Given the description of an element on the screen output the (x, y) to click on. 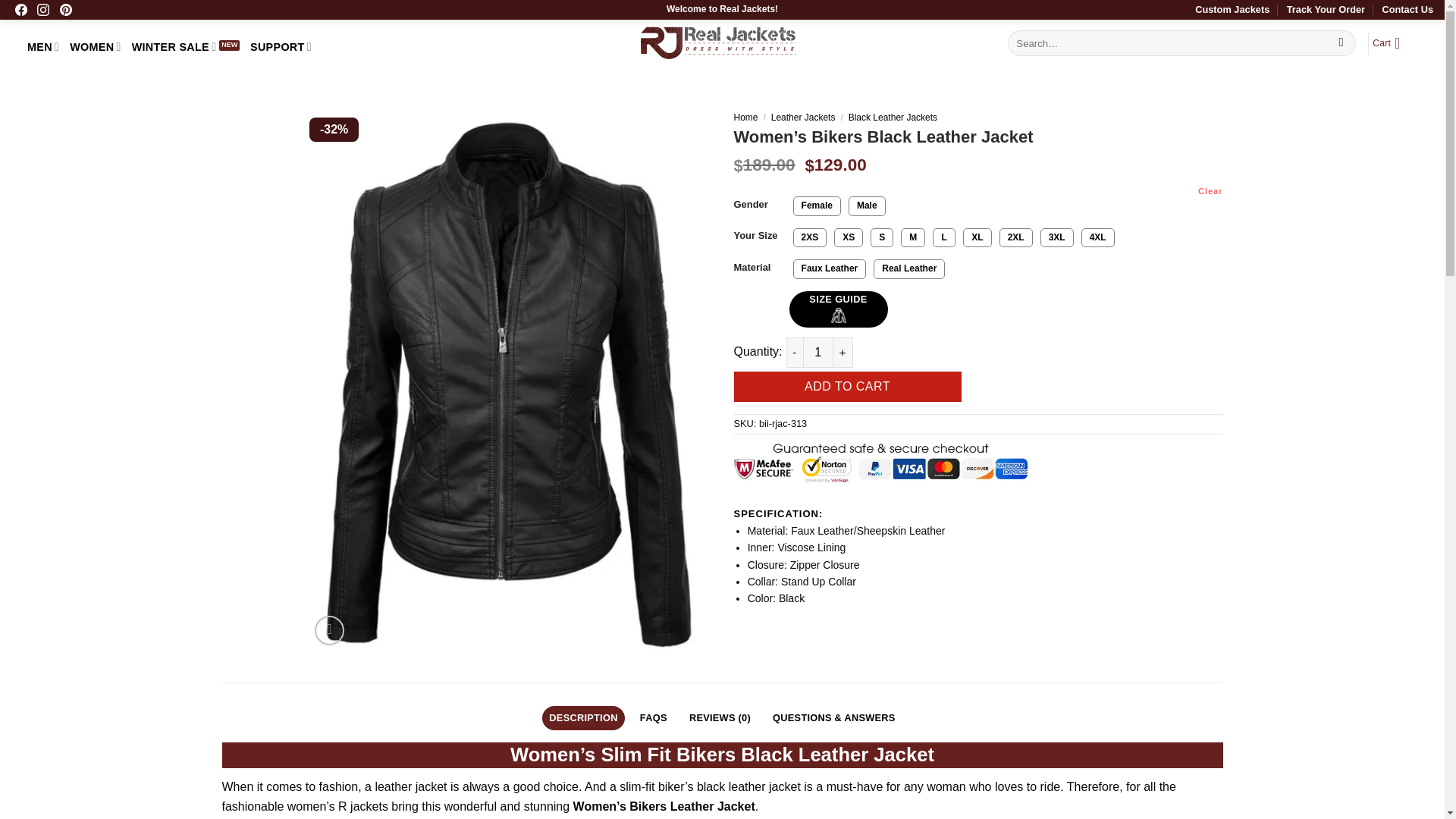
Cart (1391, 42)
Zoom (328, 630)
1 (817, 352)
Custom Jackets (1232, 9)
Contact Us (1406, 9)
Track Your Order (1326, 9)
MEN (43, 46)
Real Jackets - Real Leather Jackets (717, 42)
WOMEN (94, 46)
